Given the description of an element on the screen output the (x, y) to click on. 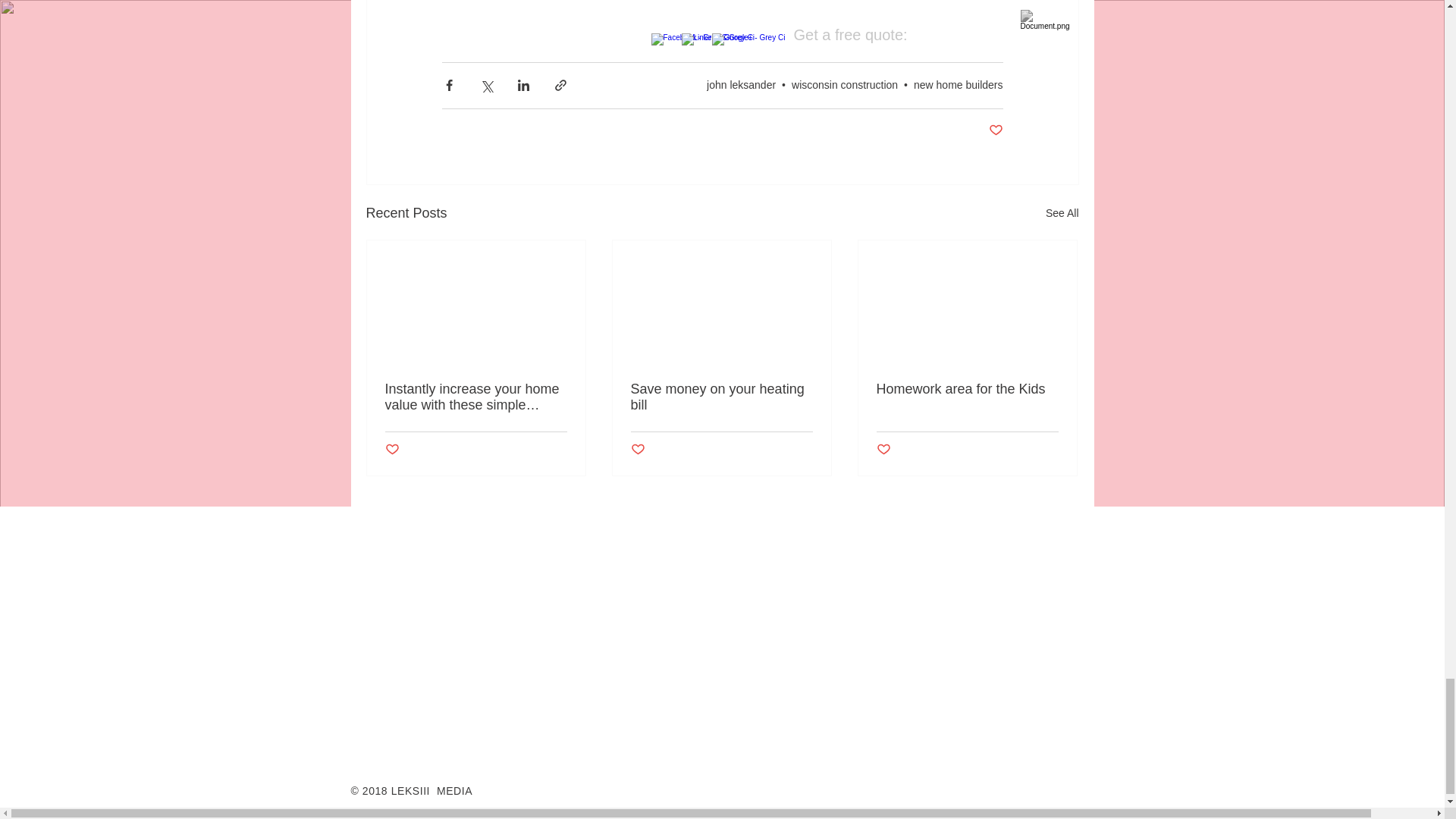
john leksander (741, 84)
Post not marked as liked (637, 449)
Post not marked as liked (391, 449)
See All (1061, 213)
Post not marked as liked (995, 130)
Save money on your heating bill (721, 397)
wisconsin construction (845, 84)
new home builders (958, 84)
